Given the description of an element on the screen output the (x, y) to click on. 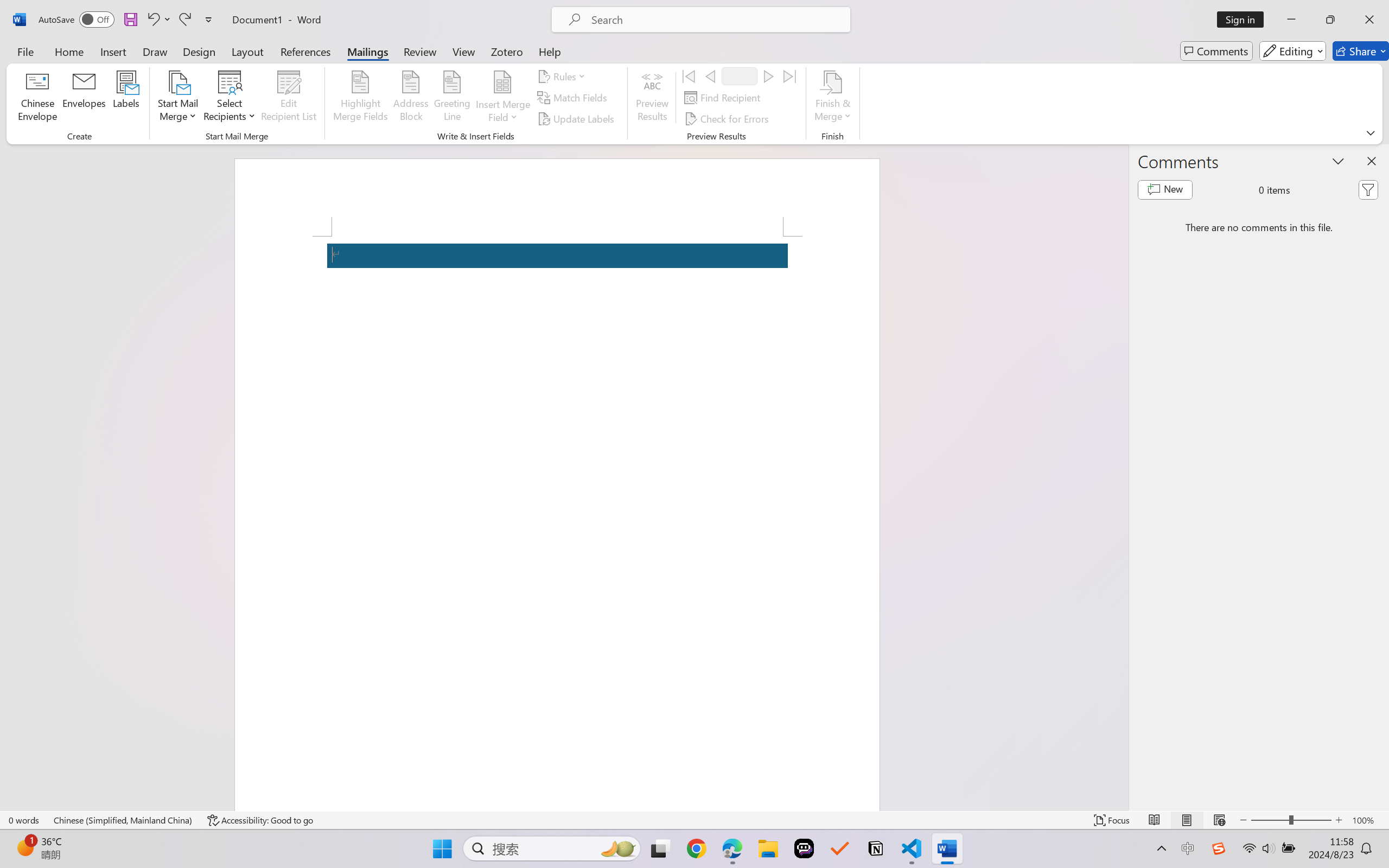
Last (790, 75)
Language Chinese (Simplified, Mainland China) (123, 819)
Chinese Envelope... (37, 97)
Greeting Line... (451, 97)
Update Labels (576, 118)
Edit Recipient List... (288, 97)
Previous (709, 75)
